Given the description of an element on the screen output the (x, y) to click on. 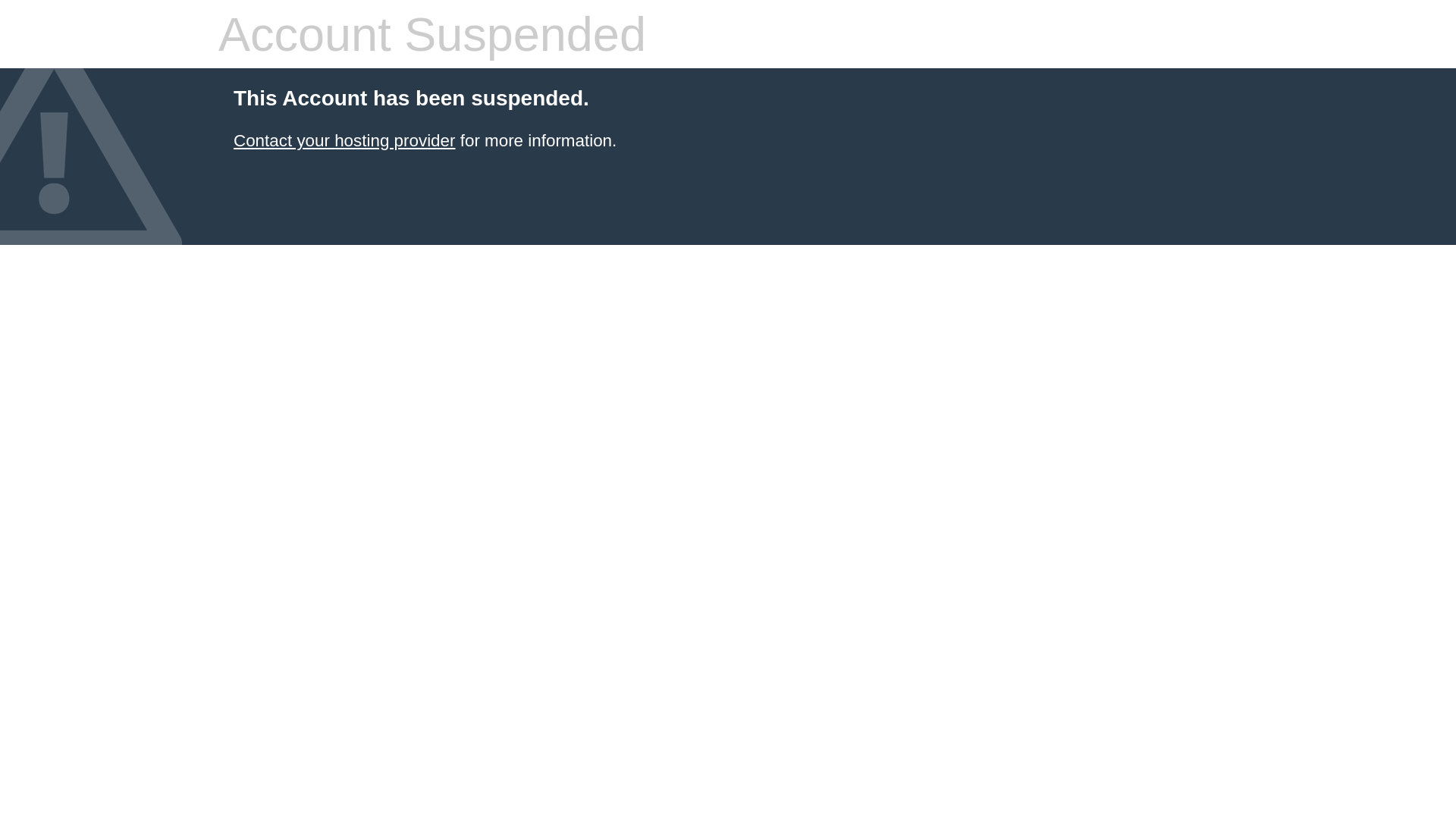
Contact your hosting provider Element type: text (344, 140)
